Given the description of an element on the screen output the (x, y) to click on. 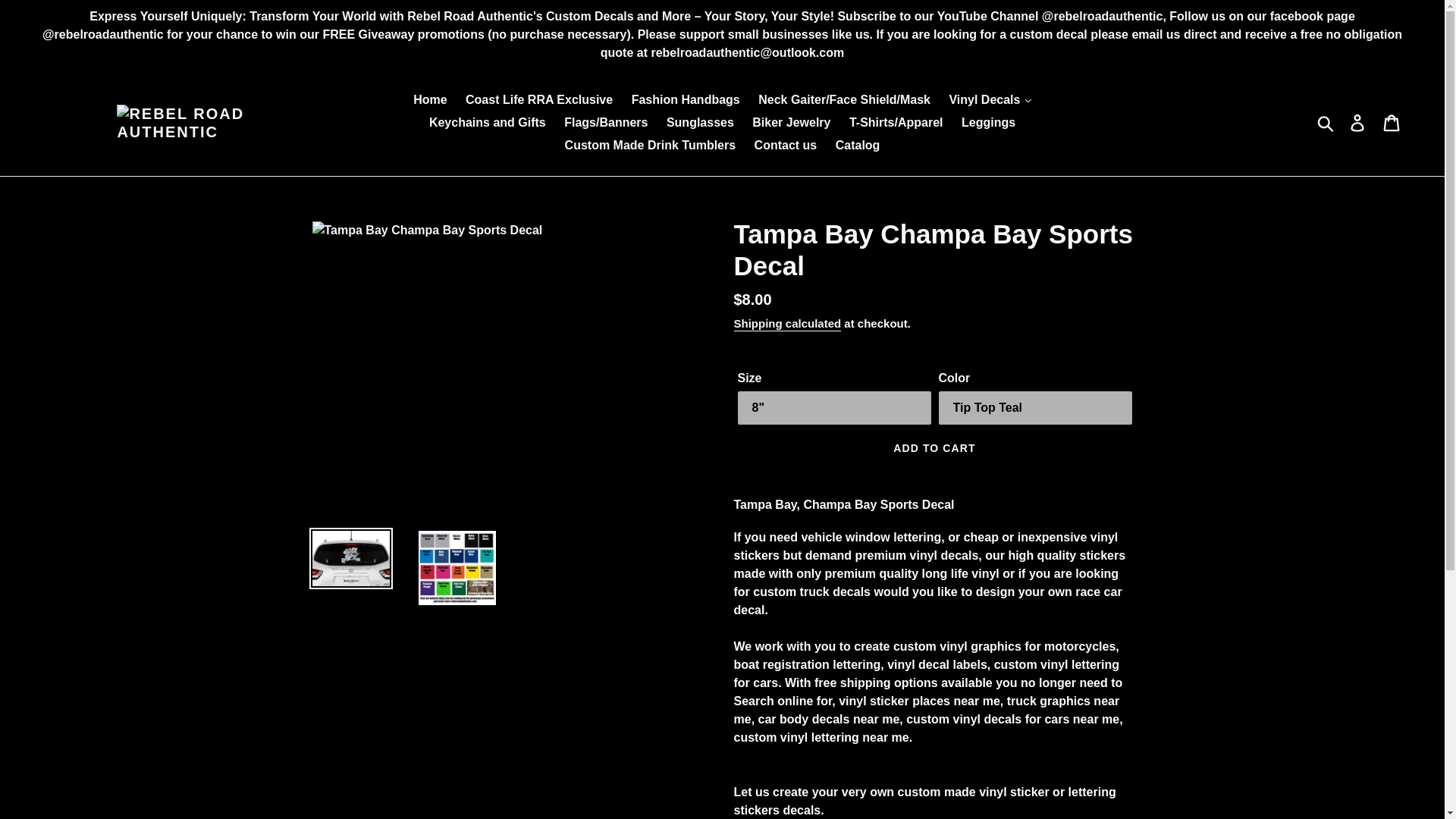
Sunglasses (700, 122)
Home (430, 99)
Biker Jewelry (791, 122)
Submit (1326, 122)
Fashion Handbags (686, 99)
Custom Made Drink Tumblers (650, 145)
Contact us (785, 145)
Keychains and Gifts (487, 122)
Catalog (858, 145)
Log in (1357, 122)
